Given the description of an element on the screen output the (x, y) to click on. 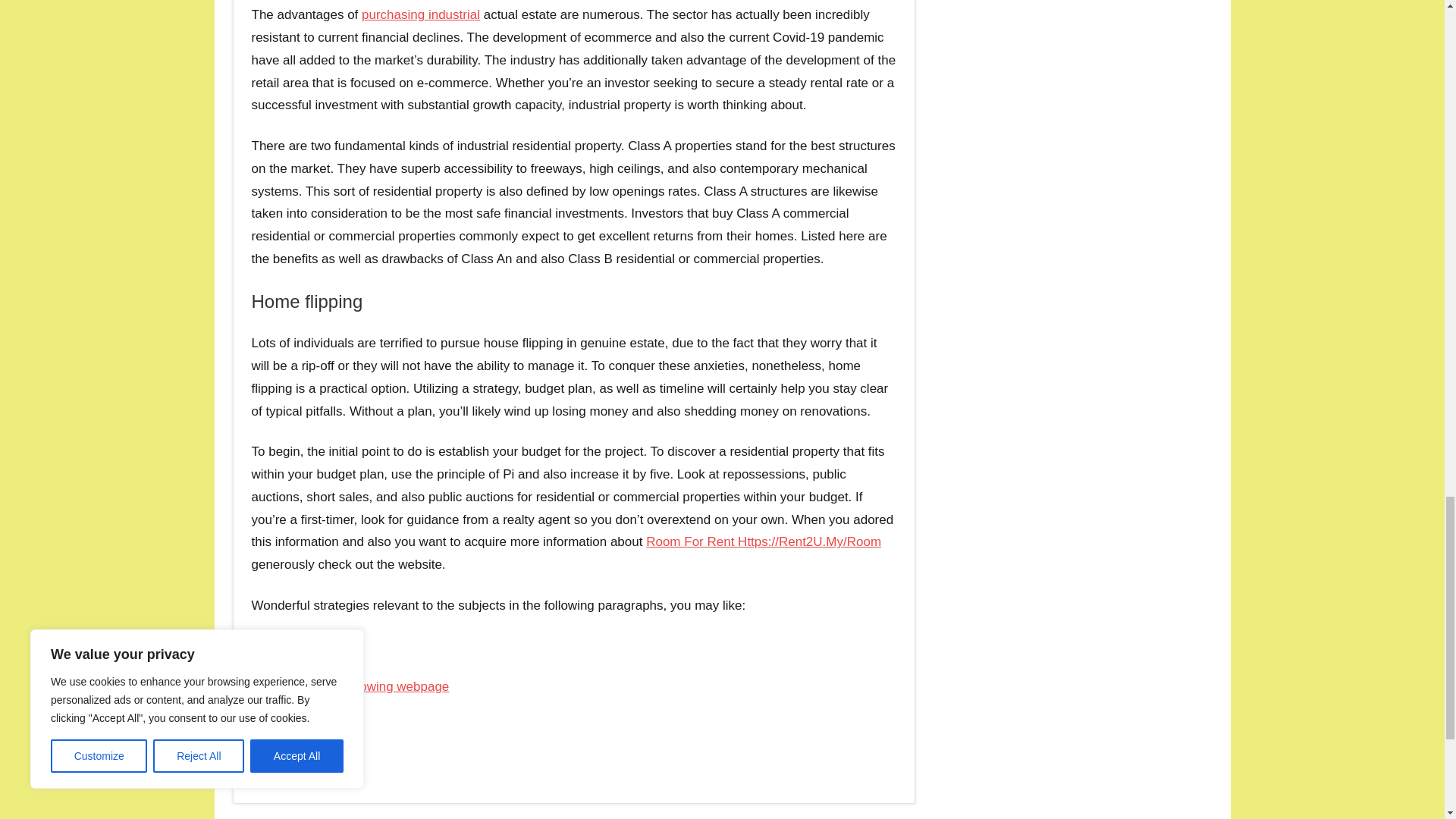
Check this site out (303, 646)
better (329, 725)
purchasing industrial (420, 14)
General (281, 768)
please click the following webpage (350, 686)
